Given the description of an element on the screen output the (x, y) to click on. 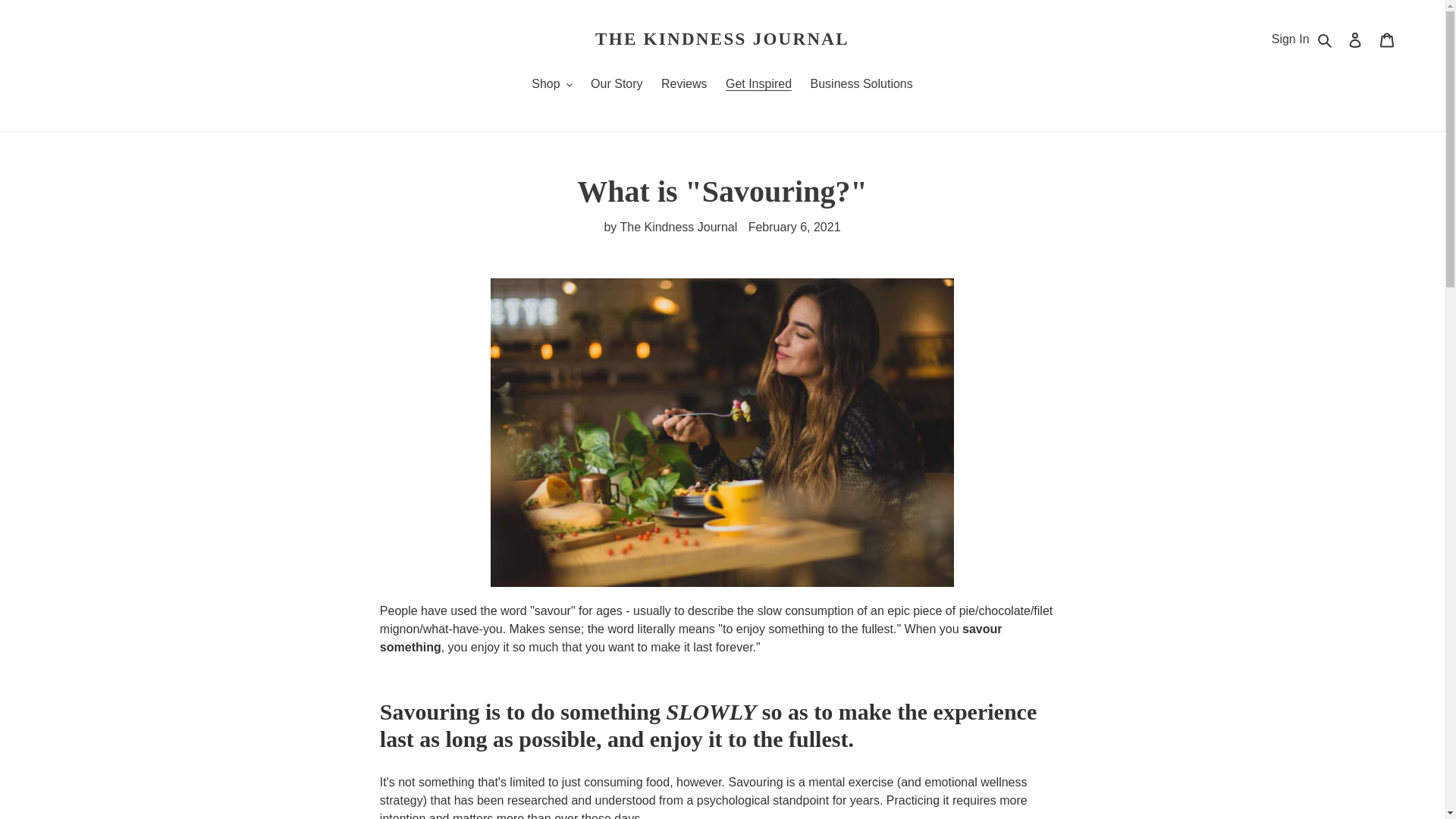
Cart (1387, 39)
Get Inspired (758, 85)
THE KINDNESS JOURNAL (721, 38)
Our Story (616, 85)
Business Solutions (861, 85)
Sign In (1289, 39)
Reviews (683, 85)
Shop (551, 85)
Search (1326, 39)
Log in (1355, 39)
